Given the description of an element on the screen output the (x, y) to click on. 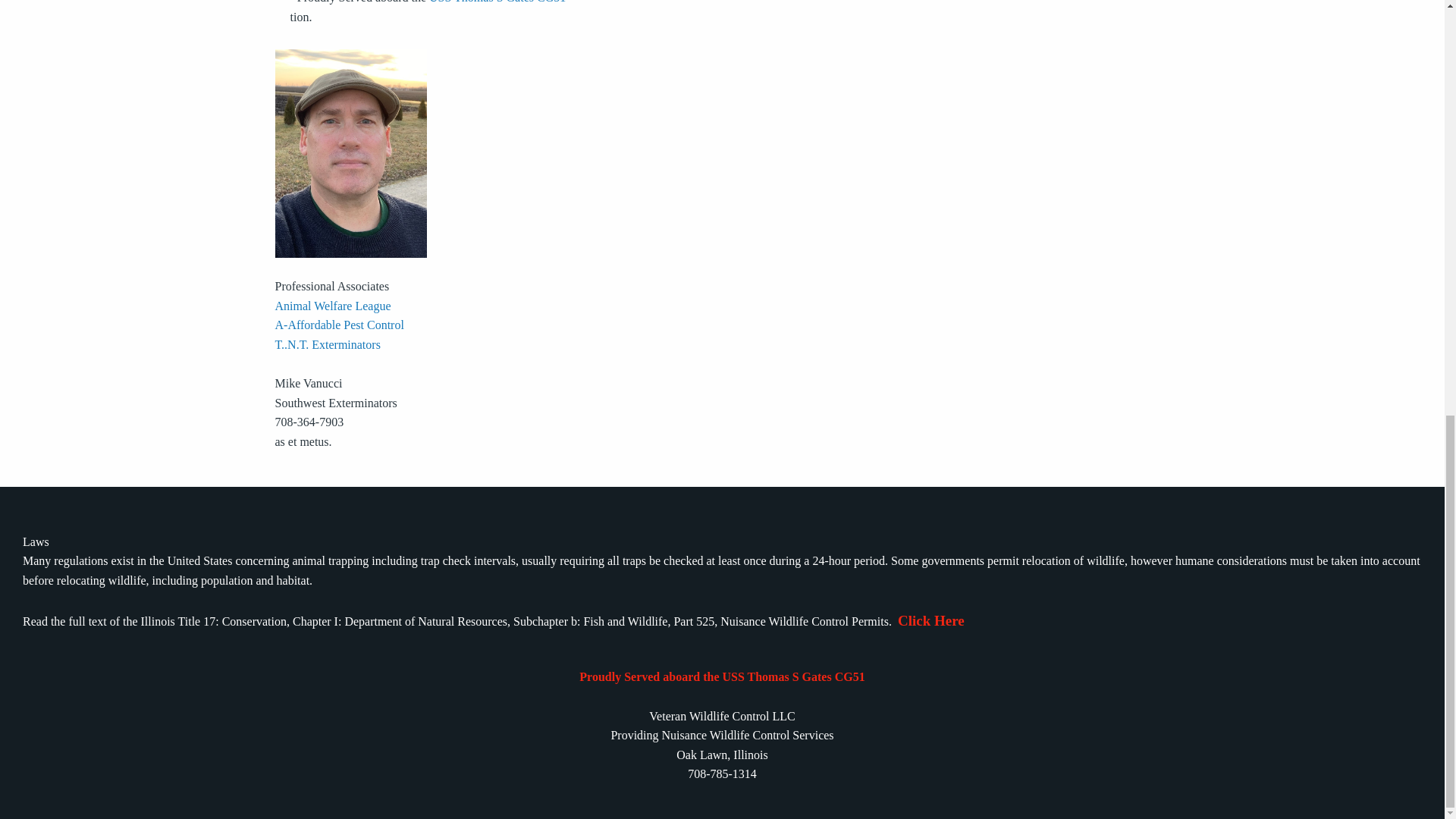
Animal Welfare League (332, 305)
USS Thomas S Gates CG51 (497, 2)
Proudly Served aboard the USS Thomas S Gates CG51 (721, 676)
Click Here (930, 620)
A-Affordable Pest Control (339, 324)
T..N.T. Exterminators (327, 344)
